Given the description of an element on the screen output the (x, y) to click on. 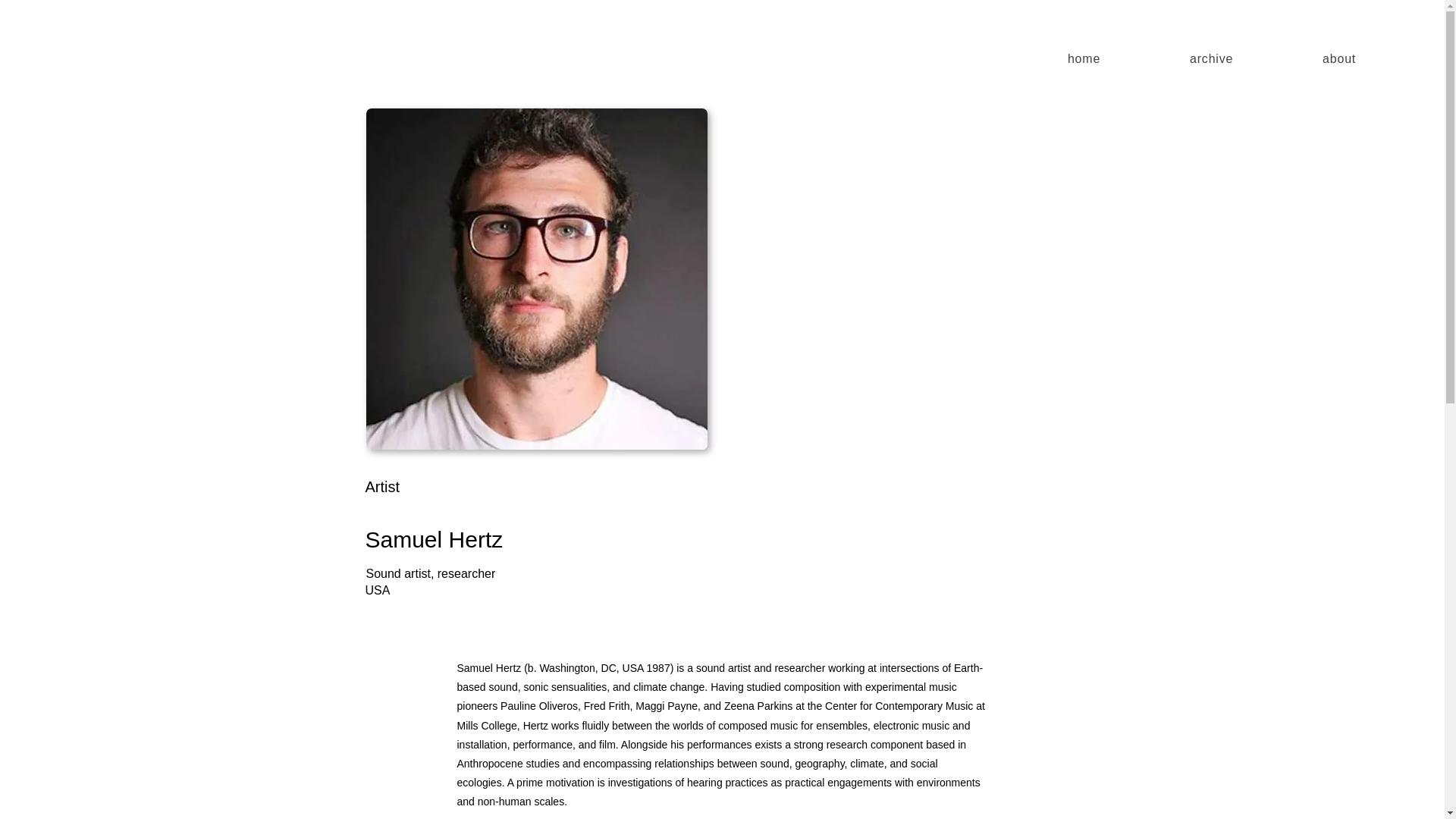
archive (1211, 58)
home (1083, 58)
about (1339, 58)
